Given the description of an element on the screen output the (x, y) to click on. 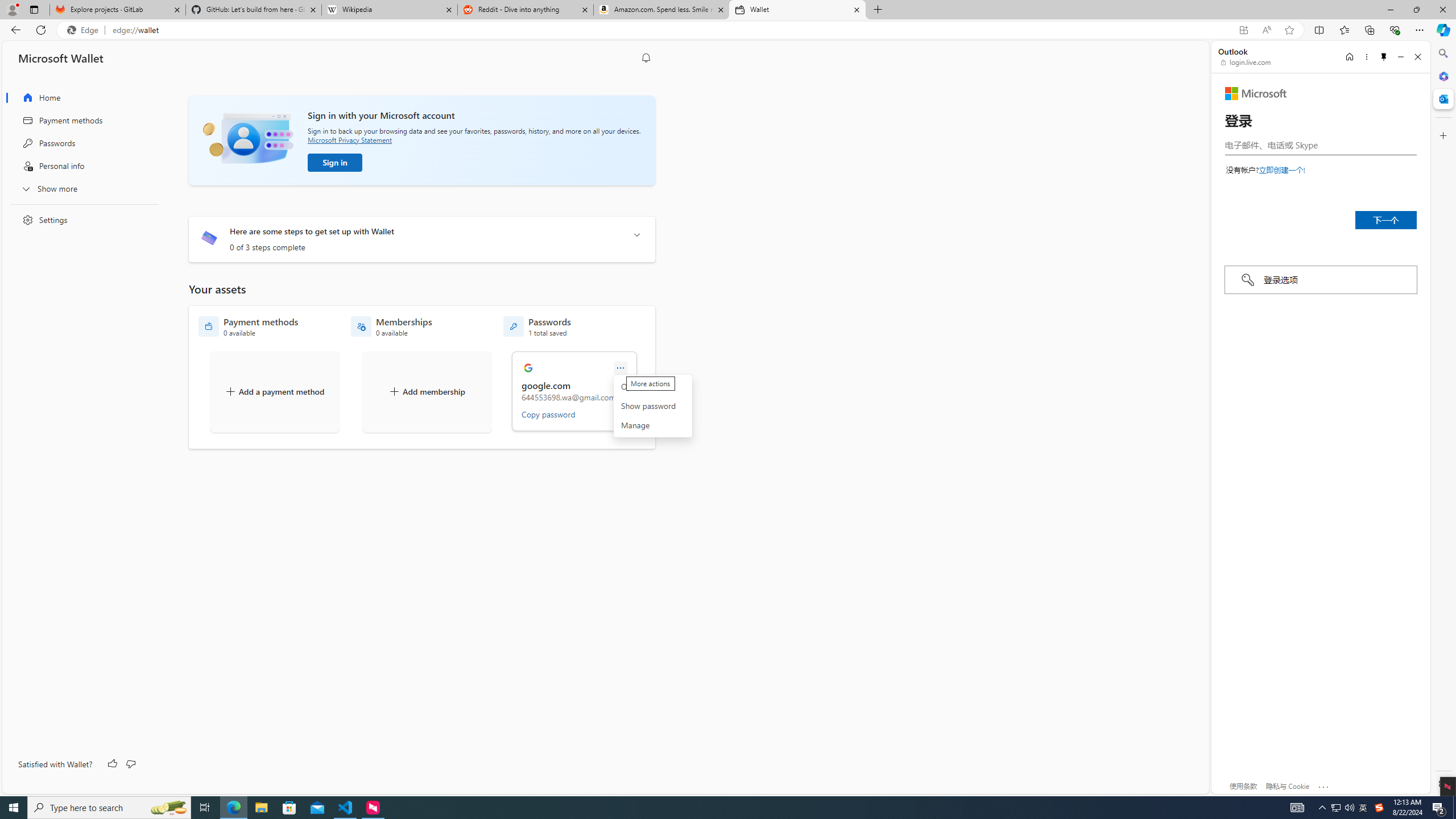
Wallet (797, 9)
Add membership (427, 391)
Unpin side pane (1383, 56)
Memberships - 0 available (391, 326)
Reddit - Dive into anything (525, 9)
Like (112, 764)
login.live.com (1246, 61)
Add a payment method (274, 391)
